Given the description of an element on the screen output the (x, y) to click on. 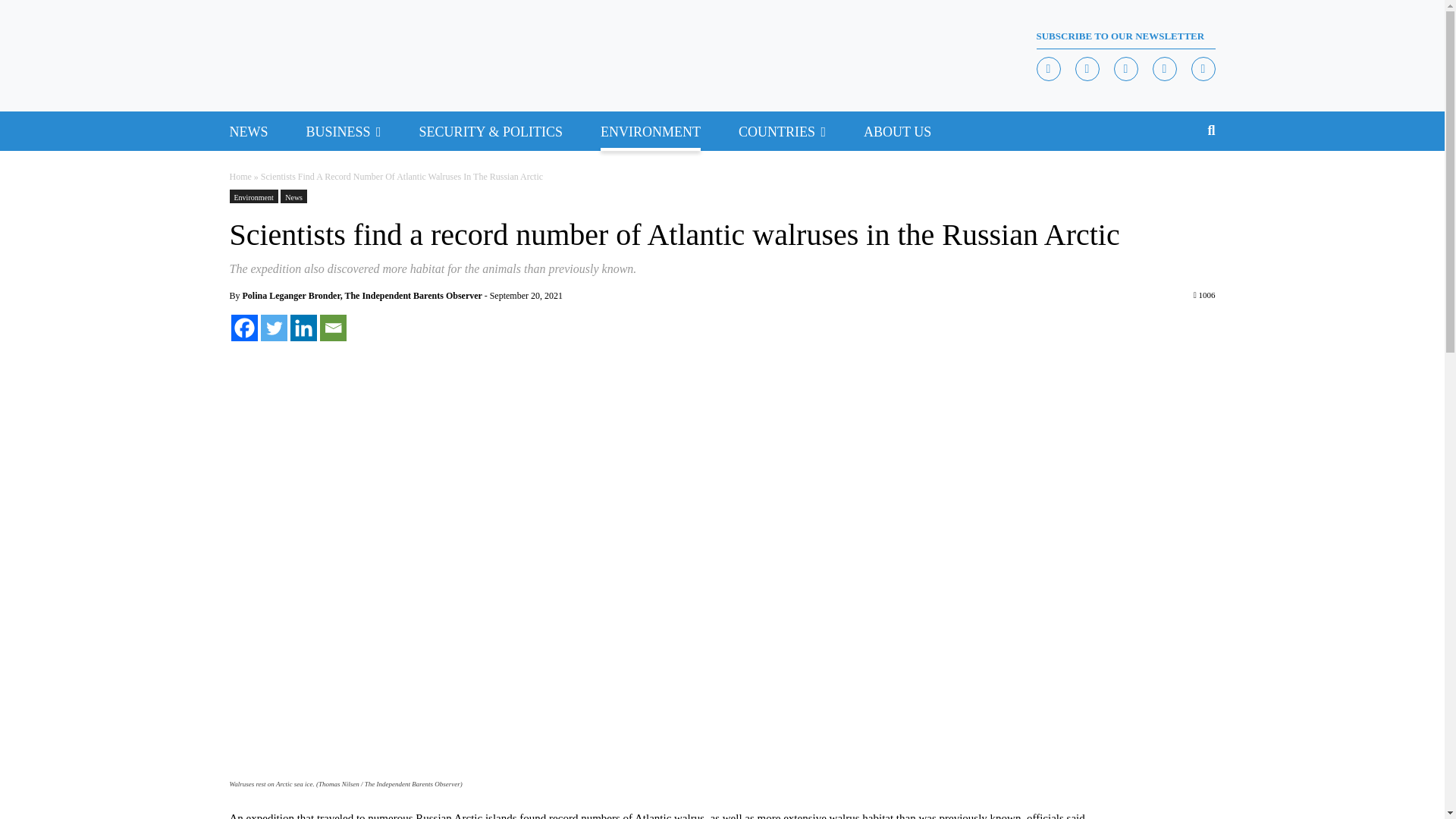
NEWS (247, 130)
SUBSCRIBE TO OUR NEWSLETTER (1124, 36)
BUSINESS (338, 130)
